Given the description of an element on the screen output the (x, y) to click on. 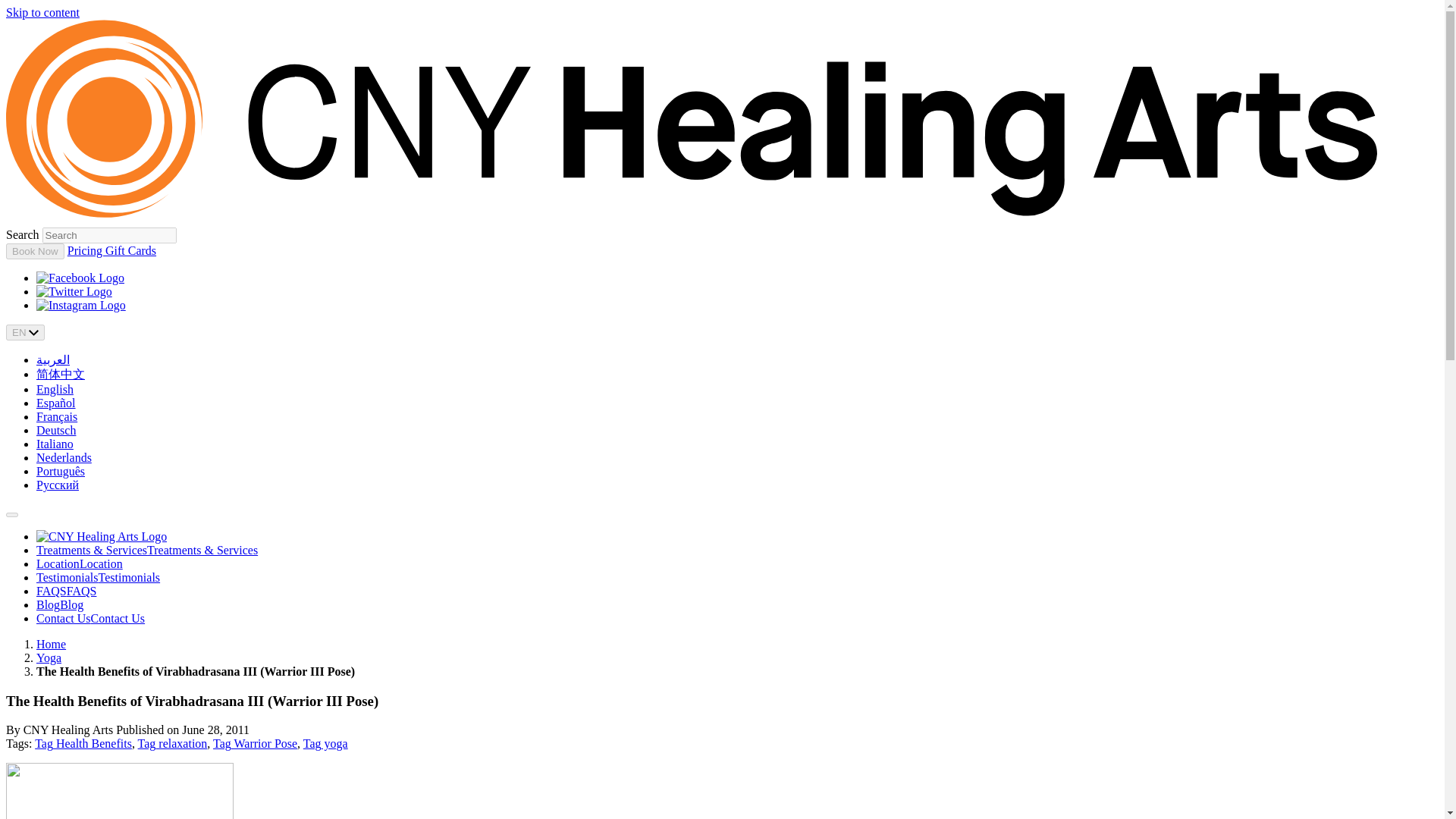
LocationLocation (79, 563)
Yoga (48, 657)
English (55, 389)
TestimonialsTestimonials (98, 576)
Gift Cards (129, 250)
Tag Health Benefits (83, 743)
Book Now (34, 251)
Pricing (85, 250)
FAQSFAQS (66, 590)
Skip to content (42, 11)
Deutsch (55, 430)
Italiano (55, 443)
Contact UsContact Us (90, 617)
Home (50, 644)
Yoga (48, 657)
